Given the description of an element on the screen output the (x, y) to click on. 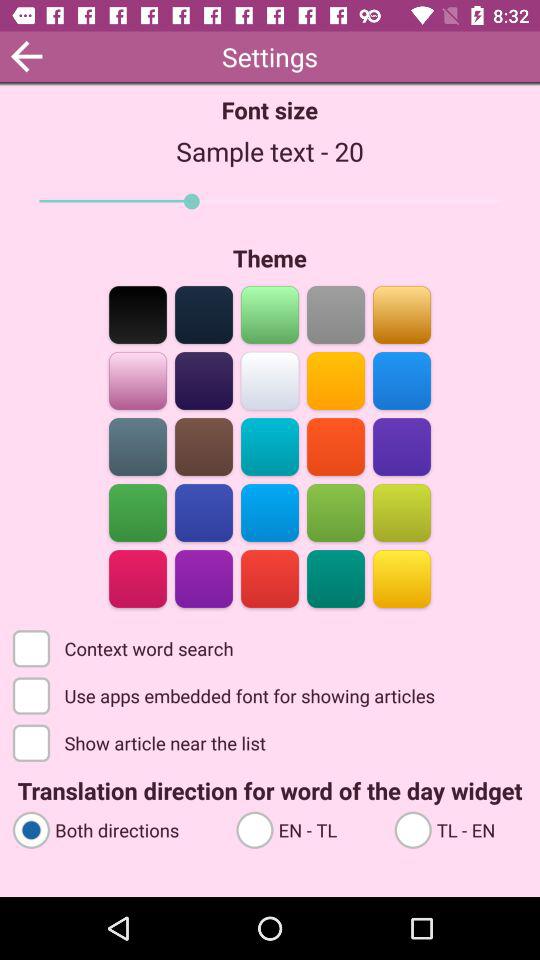
choose item to the left of the en - tl icon (115, 828)
